Given the description of an element on the screen output the (x, y) to click on. 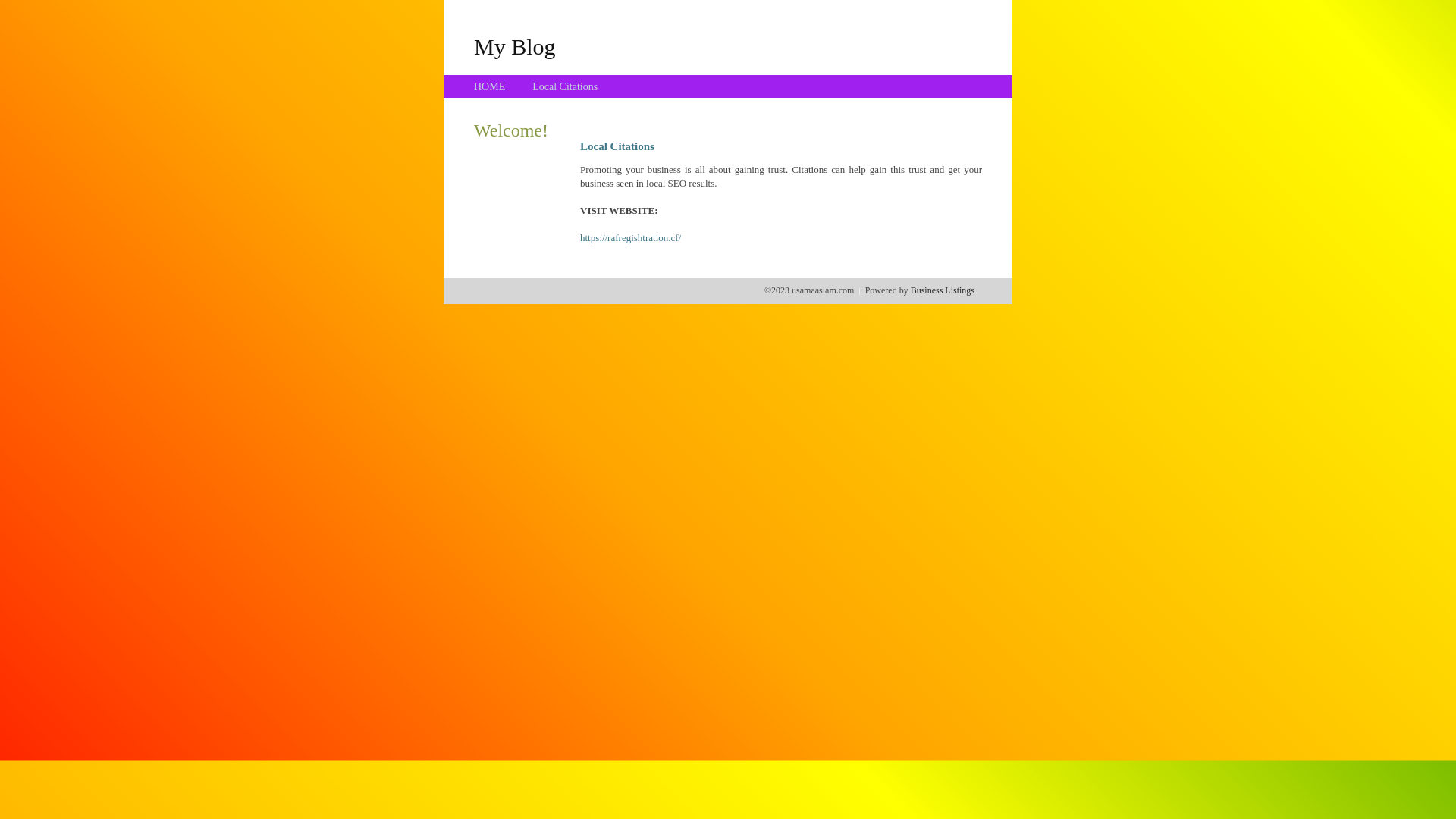
My Blog Element type: text (514, 46)
https://rafregishtration.cf/ Element type: text (630, 237)
Local Citations Element type: text (564, 86)
HOME Element type: text (489, 86)
Business Listings Element type: text (942, 290)
